Given the description of an element on the screen output the (x, y) to click on. 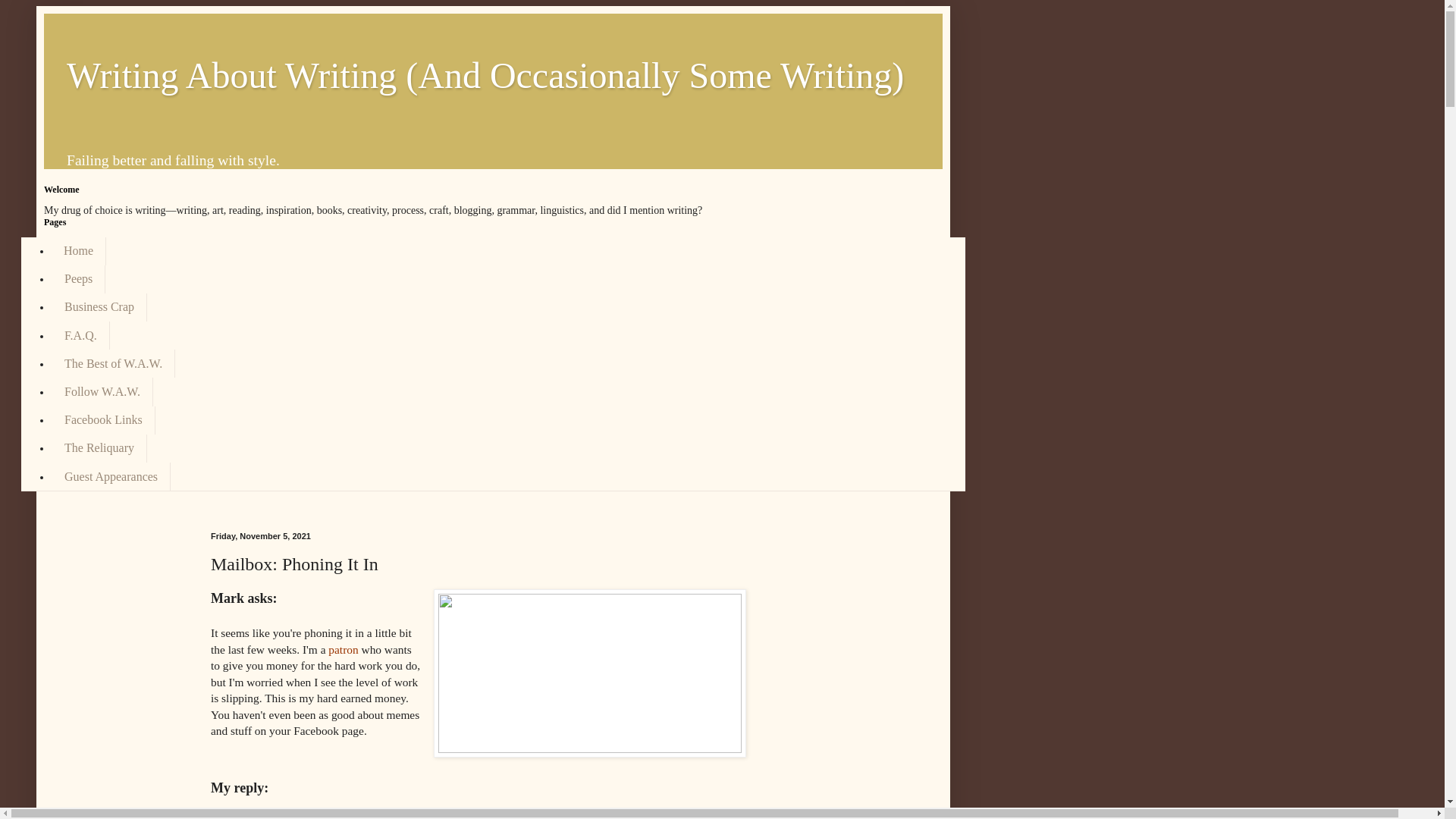
Follow W.A.W. (101, 391)
The Reliquary (98, 448)
patron (343, 649)
Peeps (77, 279)
Home (78, 250)
The Best of W.A.W. (112, 363)
Business Crap (98, 307)
Facebook Links (102, 420)
Guest Appearances (110, 476)
F.A.Q. (80, 335)
